Given the description of an element on the screen output the (x, y) to click on. 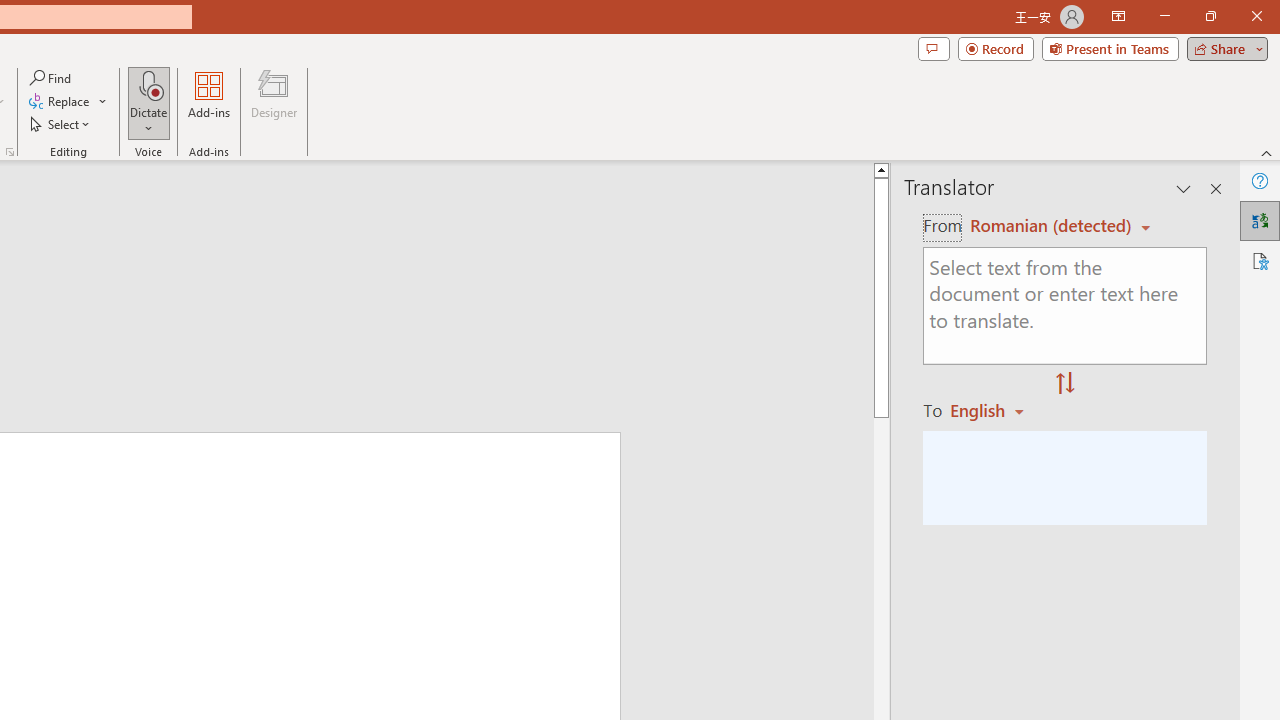
Select (61, 124)
